Given the description of an element on the screen output the (x, y) to click on. 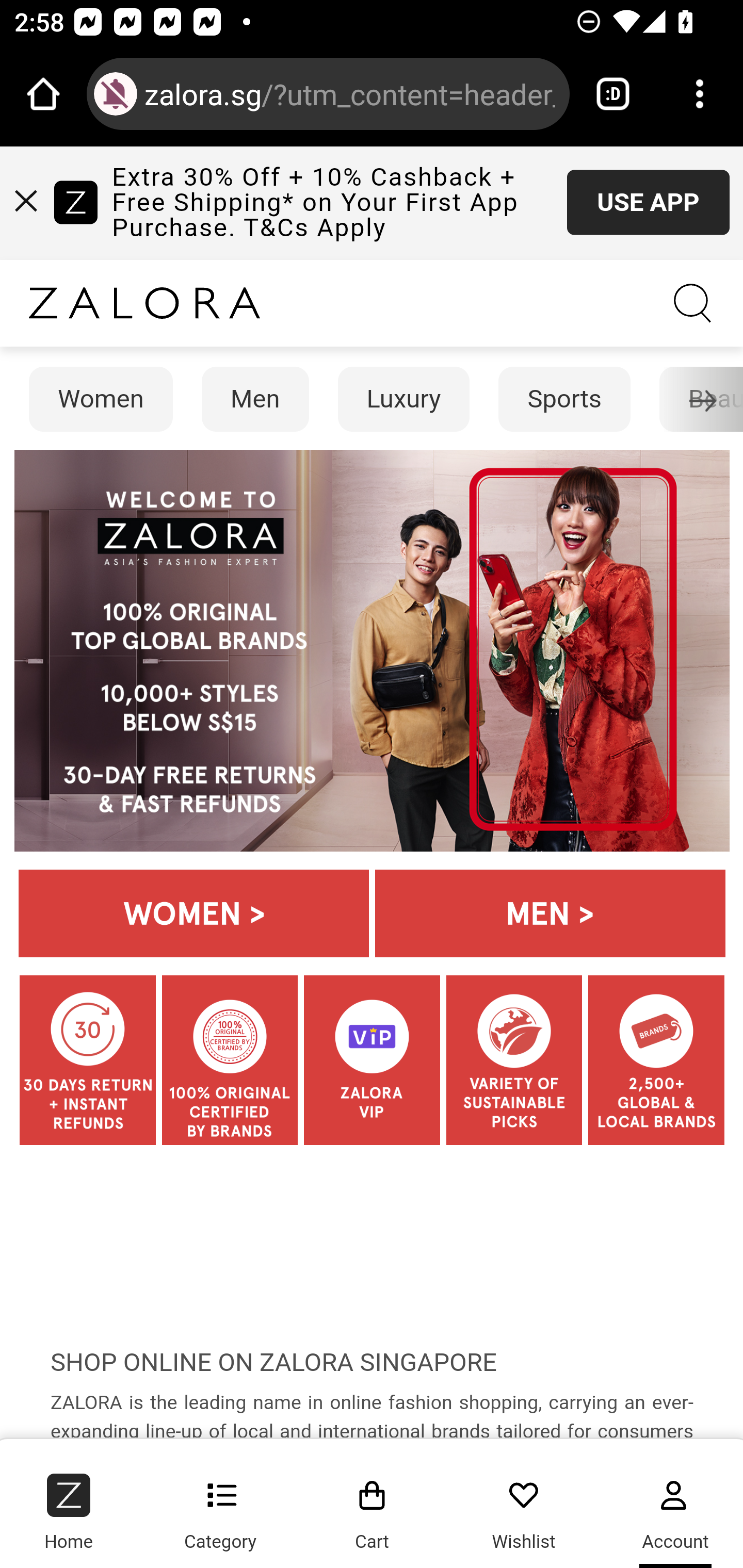
Open the home page (43, 93)
Connection is secure (115, 93)
Switch or close tabs (612, 93)
Customize and control Google Chrome (699, 93)
# (26, 200)
www.zalora (144, 303)
Women (100, 398)
Men (254, 398)
Luxury (403, 398)
Sports (565, 398)
Beauty (715, 398)
HOMEPAGE_1920_x_480_WOMEN (193, 913)
HOMEPAGE_1920_x_480_MEN (550, 913)
Home (72, 1505)
Category (220, 1505)
Cart (372, 1505)
Wishlist (523, 1505)
Account (671, 1505)
